Given the description of an element on the screen output the (x, y) to click on. 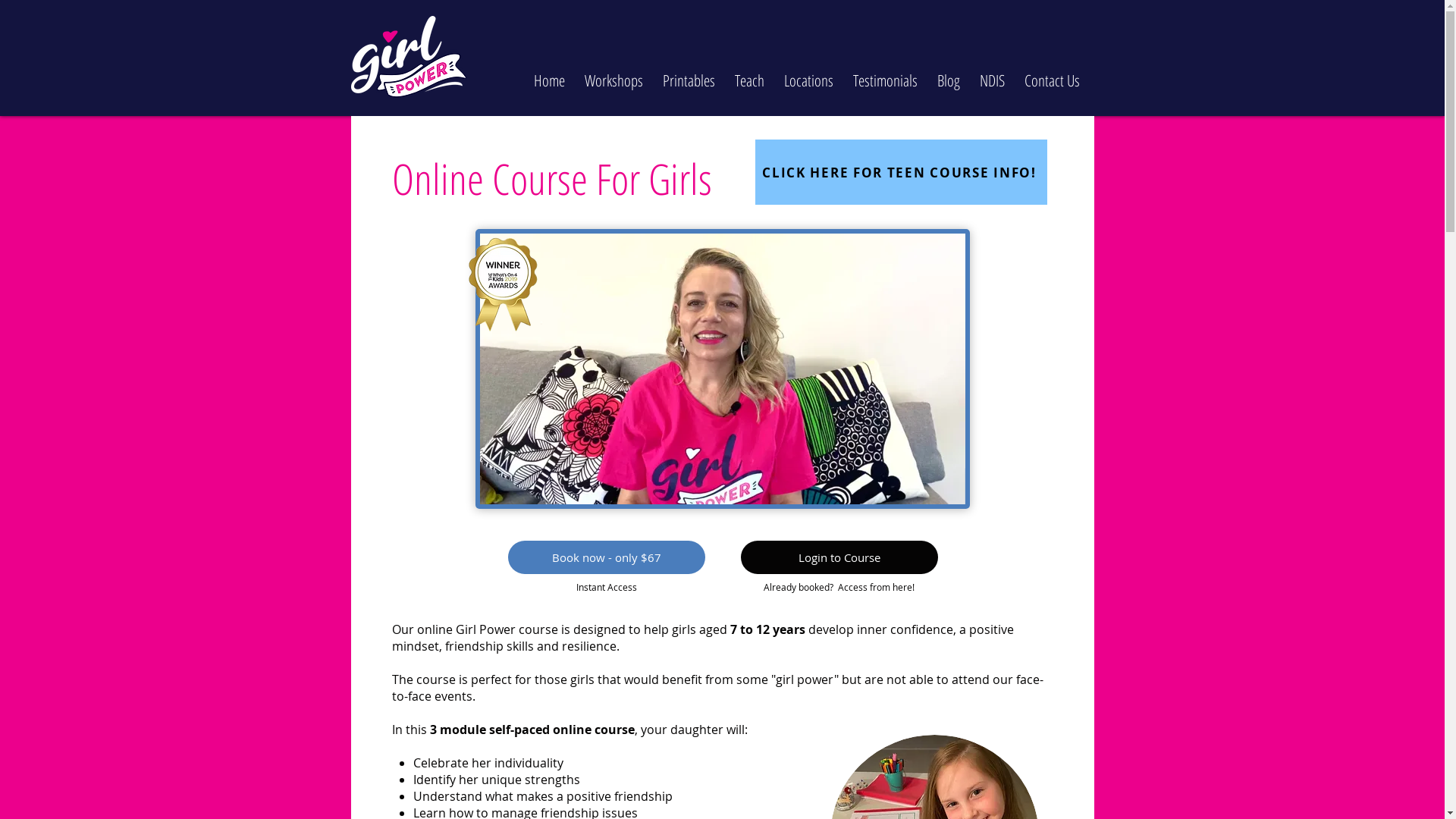
Printables Element type: text (688, 73)
Testimonials Element type: text (885, 73)
Teach Element type: text (749, 73)
Contact Us Element type: text (1051, 73)
NDIS Element type: text (991, 73)
CLICK HERE FOR TEEN COURSE INFO! Element type: text (901, 171)
Blog Element type: text (947, 73)
Book now - only $67 Element type: text (606, 557)
Login to Course Element type: text (838, 557)
Locations Element type: text (807, 73)
Home Element type: text (548, 73)
